Given the description of an element on the screen output the (x, y) to click on. 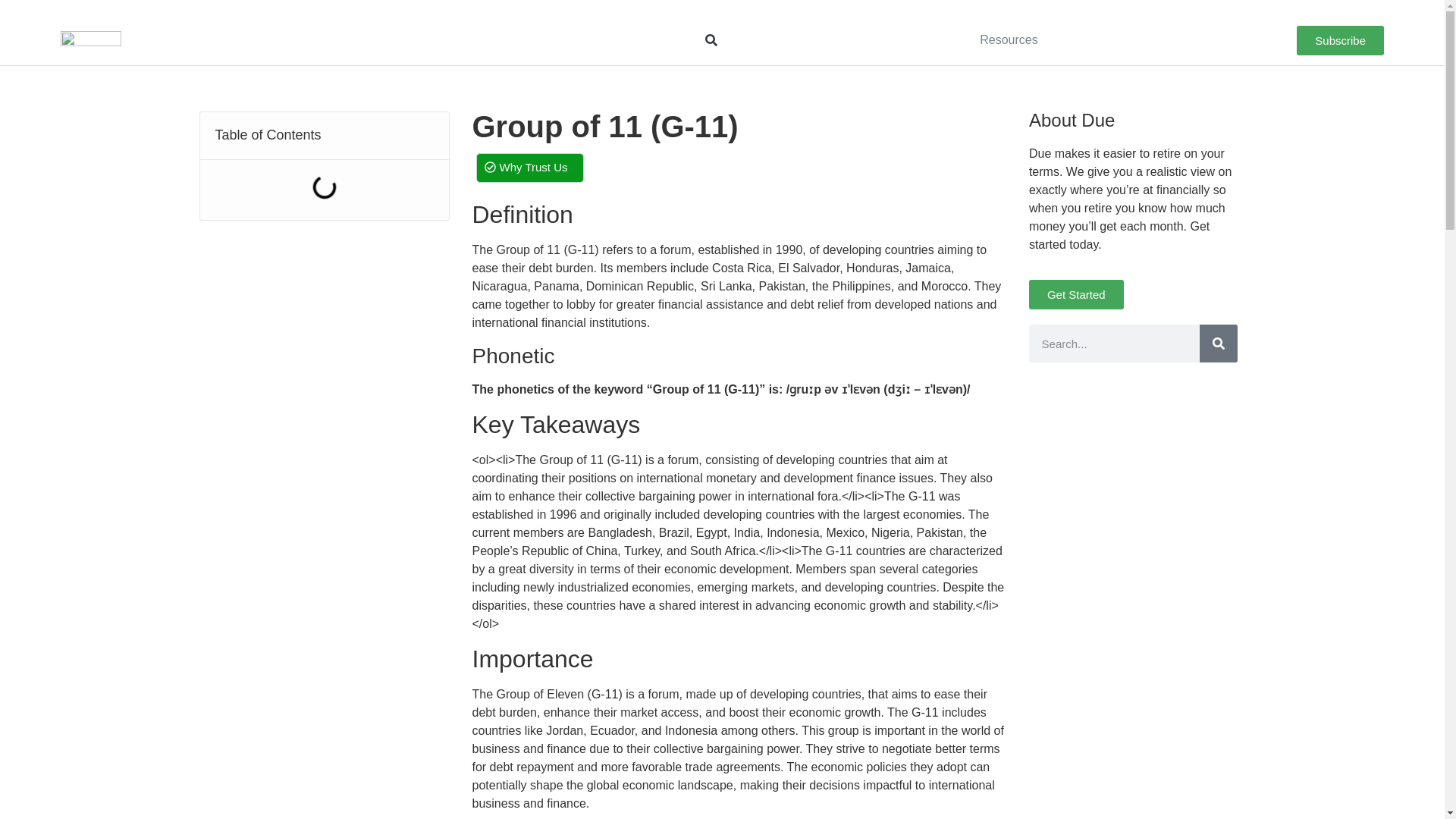
Resources (1007, 39)
Get Started (1076, 294)
Subscribe (1340, 40)
Why Trust Us (529, 167)
